Given the description of an element on the screen output the (x, y) to click on. 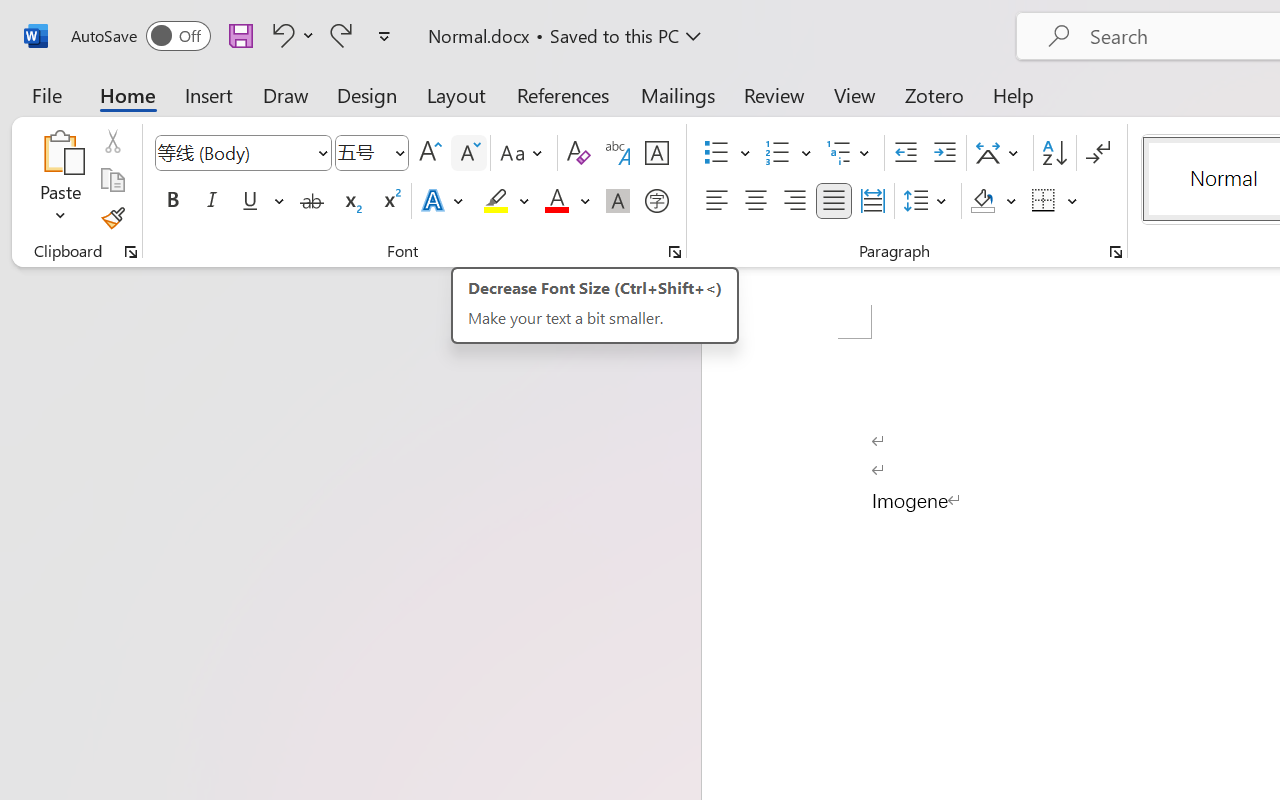
Change Case (524, 153)
Copy (112, 179)
Show/Hide Editing Marks (1098, 153)
Cut (112, 141)
Font Color (567, 201)
Align Right (794, 201)
